Given the description of an element on the screen output the (x, y) to click on. 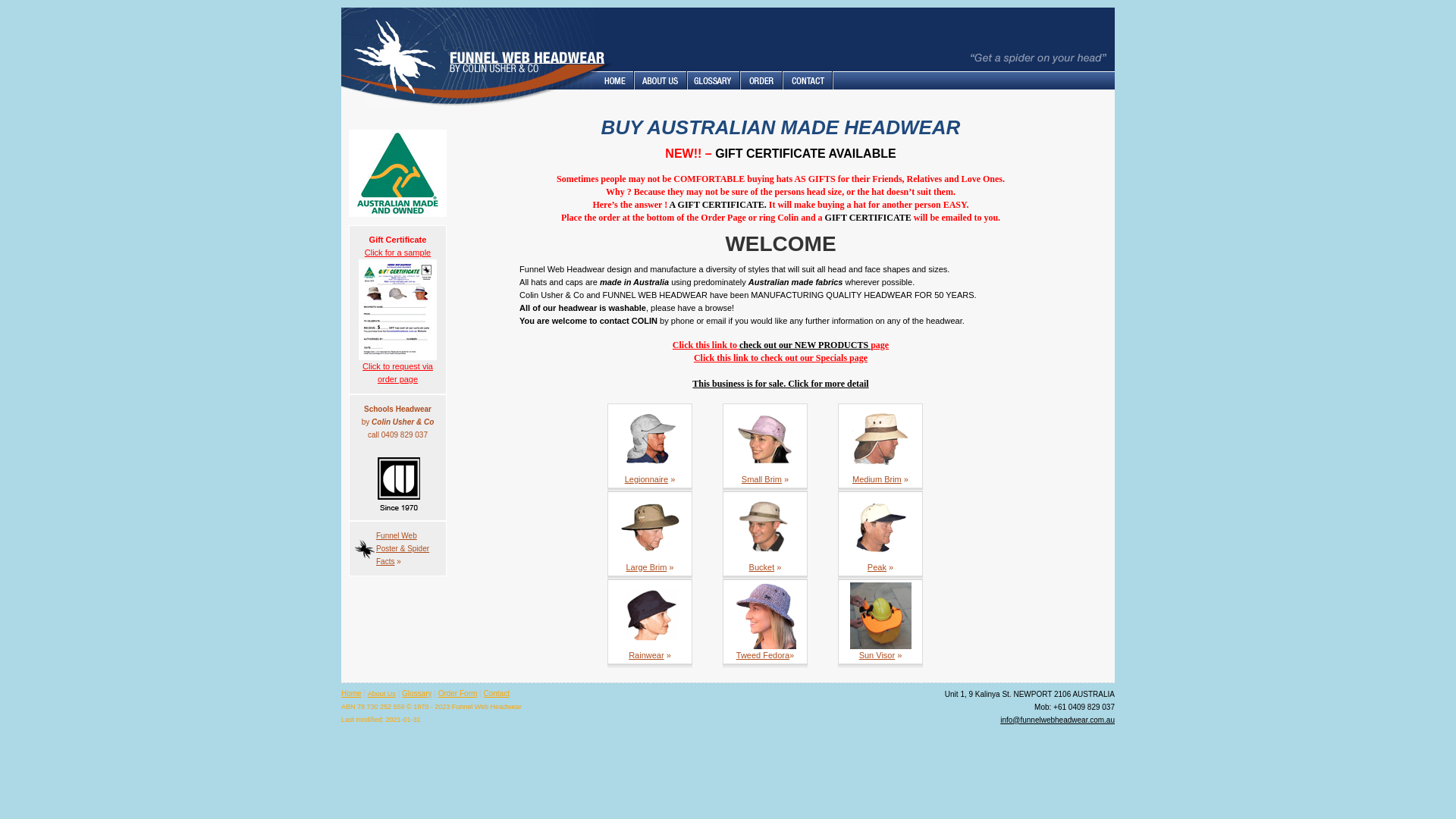
Glossary Element type: text (416, 693)
Contact Element type: text (495, 693)
Medium Brim Element type: text (876, 478)
Tweed Fedora Element type: text (762, 654)
Small Brim Element type: text (761, 478)
Home Element type: text (351, 693)
Legionnaire Element type: text (646, 478)
Sun Visor Element type: text (877, 654)
Rainwear Element type: text (645, 654)
This business is for sale. Click for more detail Element type: text (780, 383)
Funnel Web
Poster & Spider Facts Element type: text (402, 548)
Click this link to check out our Specials page Element type: text (780, 357)
Click this link to Element type: text (705, 344)
page Element type: text (879, 344)
Order Form Element type: text (457, 693)
check out our NEW PRODUCTS Element type: text (804, 344)
info@funnelwebheadwear.com.au Element type: text (1057, 719)
Click to request via order page Element type: text (397, 372)
Large Brim Element type: text (646, 566)
Bucket Element type: text (762, 566)
About Us Element type: text (381, 693)
Peak Element type: text (876, 566)
Click for a sample Element type: text (397, 308)
